Given the description of an element on the screen output the (x, y) to click on. 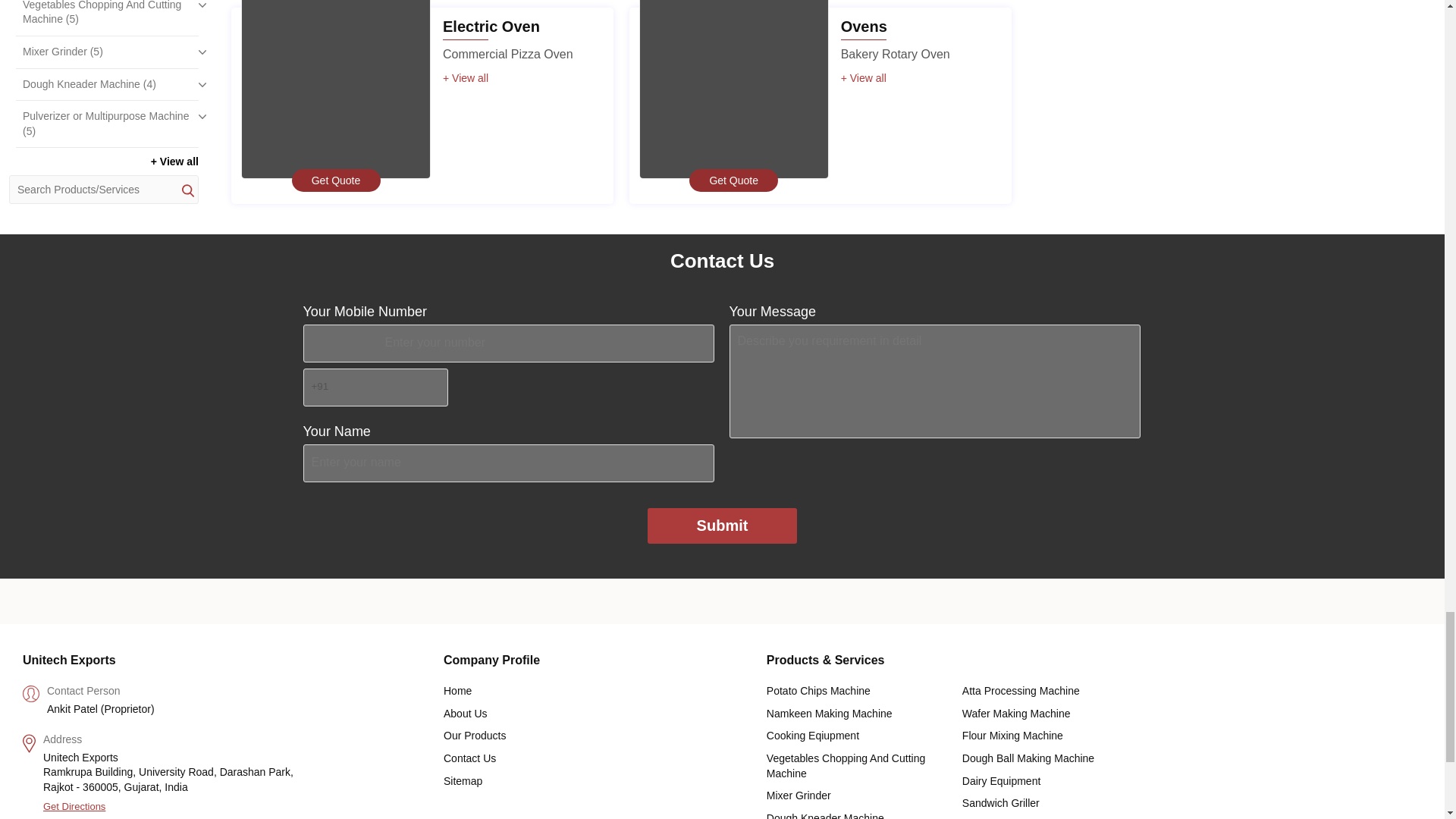
Submit (722, 525)
